Given the description of an element on the screen output the (x, y) to click on. 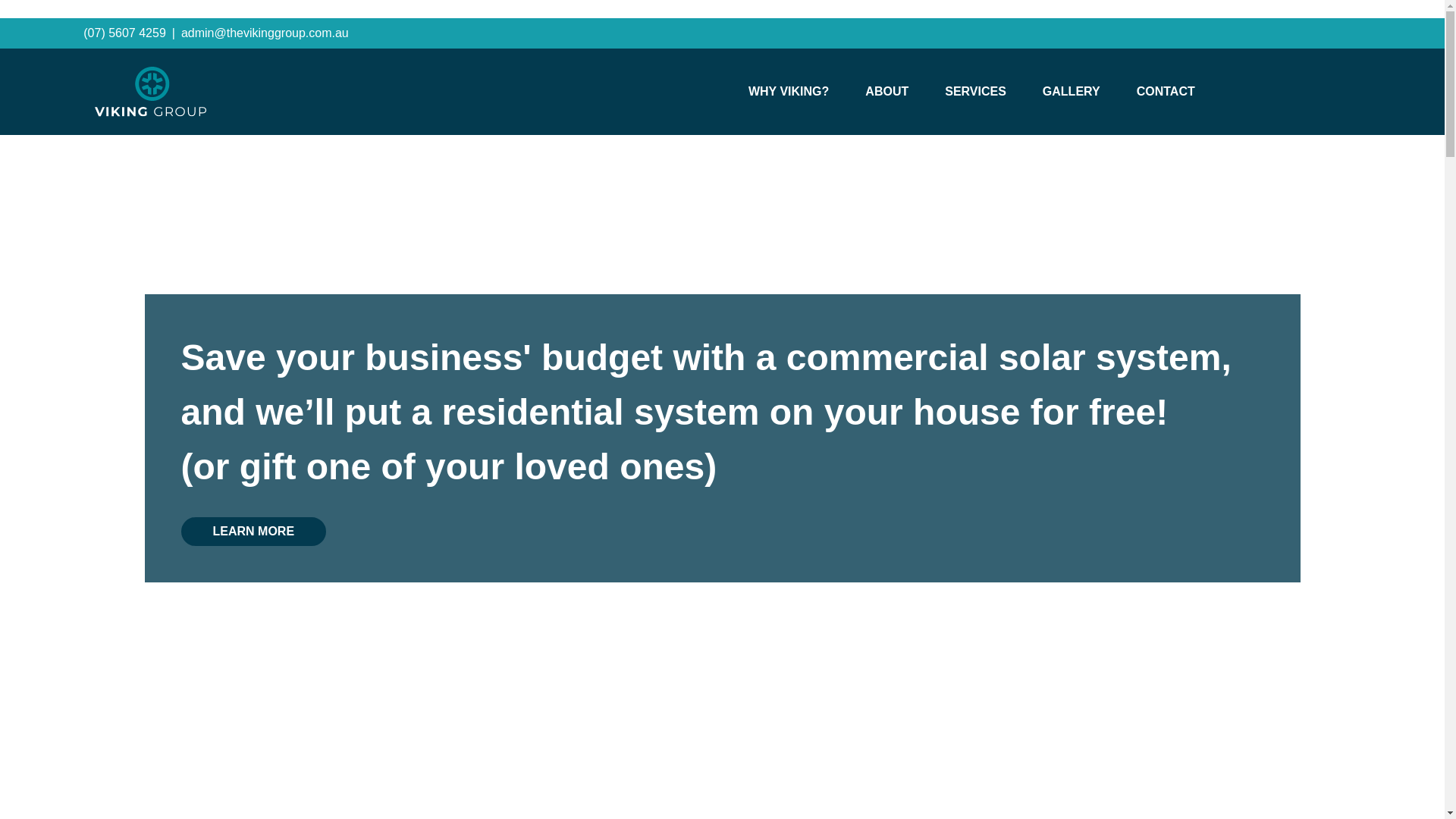
WHY VIKING? (788, 91)
CONTACT (1165, 91)
LEARN MORE (253, 531)
ABOUT (886, 91)
GALLERY (1071, 91)
SERVICES (975, 91)
